Given the description of an element on the screen output the (x, y) to click on. 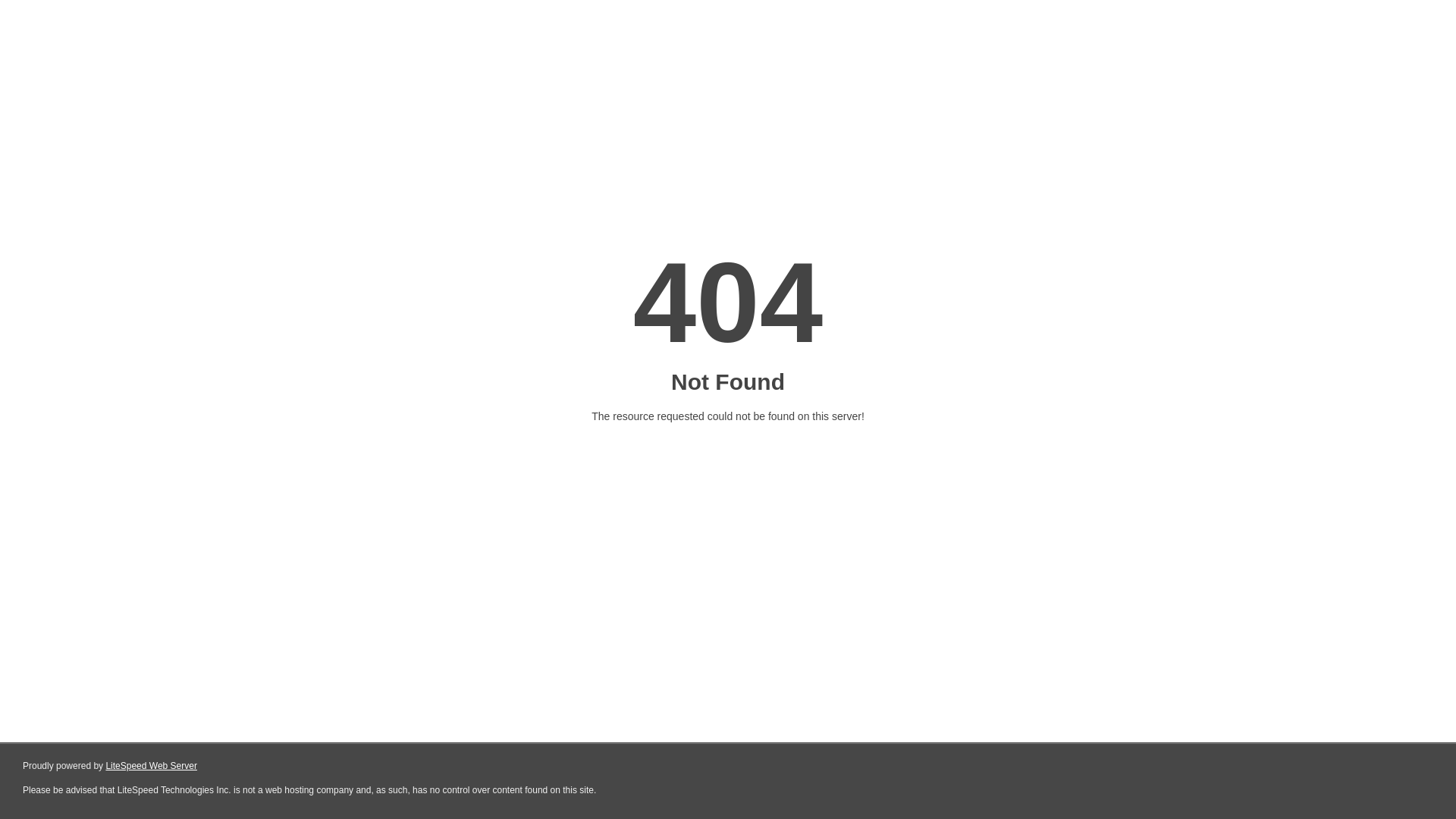
LiteSpeed Web Server Element type: text (151, 765)
